Given the description of an element on the screen output the (x, y) to click on. 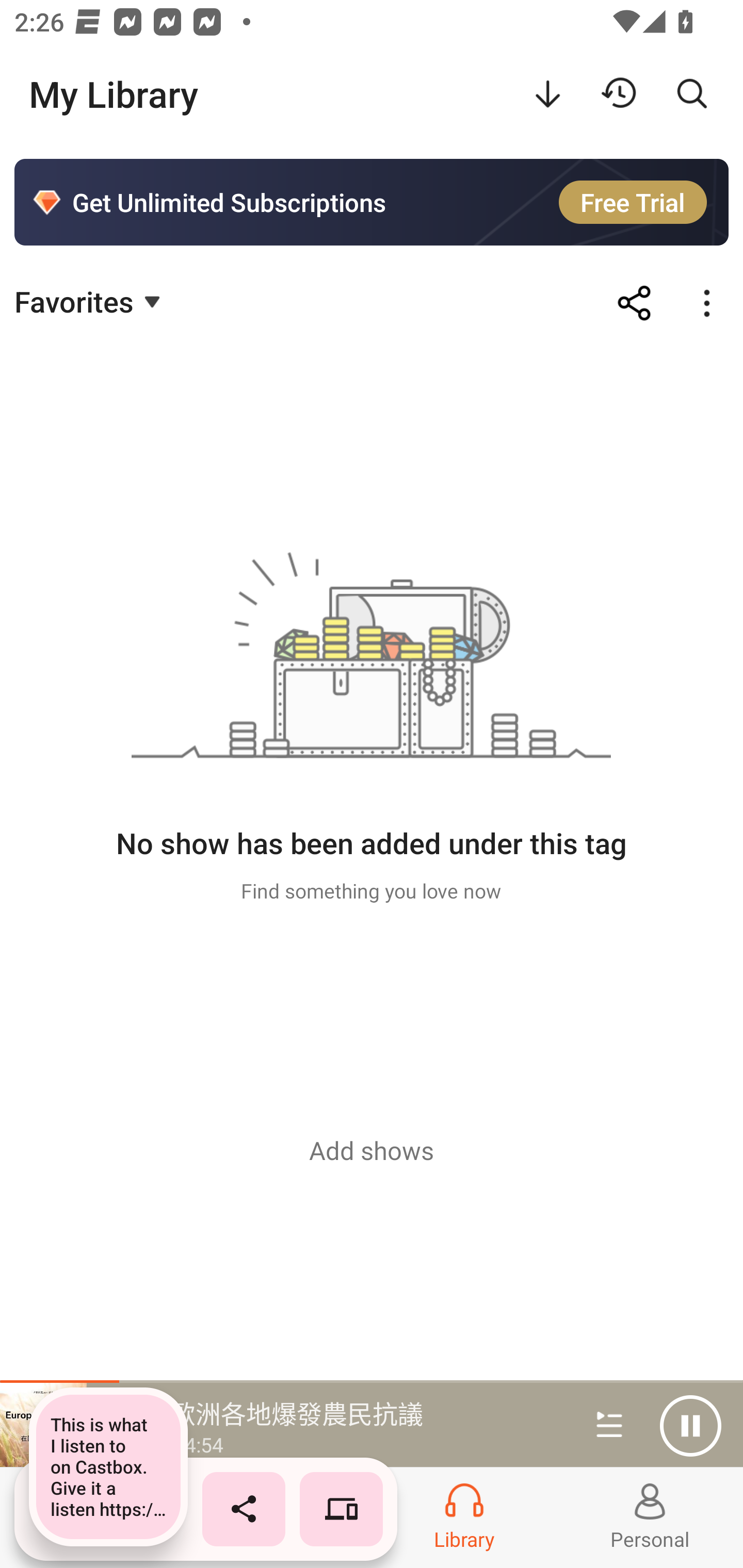
Get Unlimited Subscriptions Free Trial (371, 202)
Free Trial (632, 202)
Favorites (90, 300)
Add shows (371, 1150)
Pause (690, 1425)
Library (464, 1517)
Profiles and Settings Personal (650, 1517)
